Given the description of an element on the screen output the (x, y) to click on. 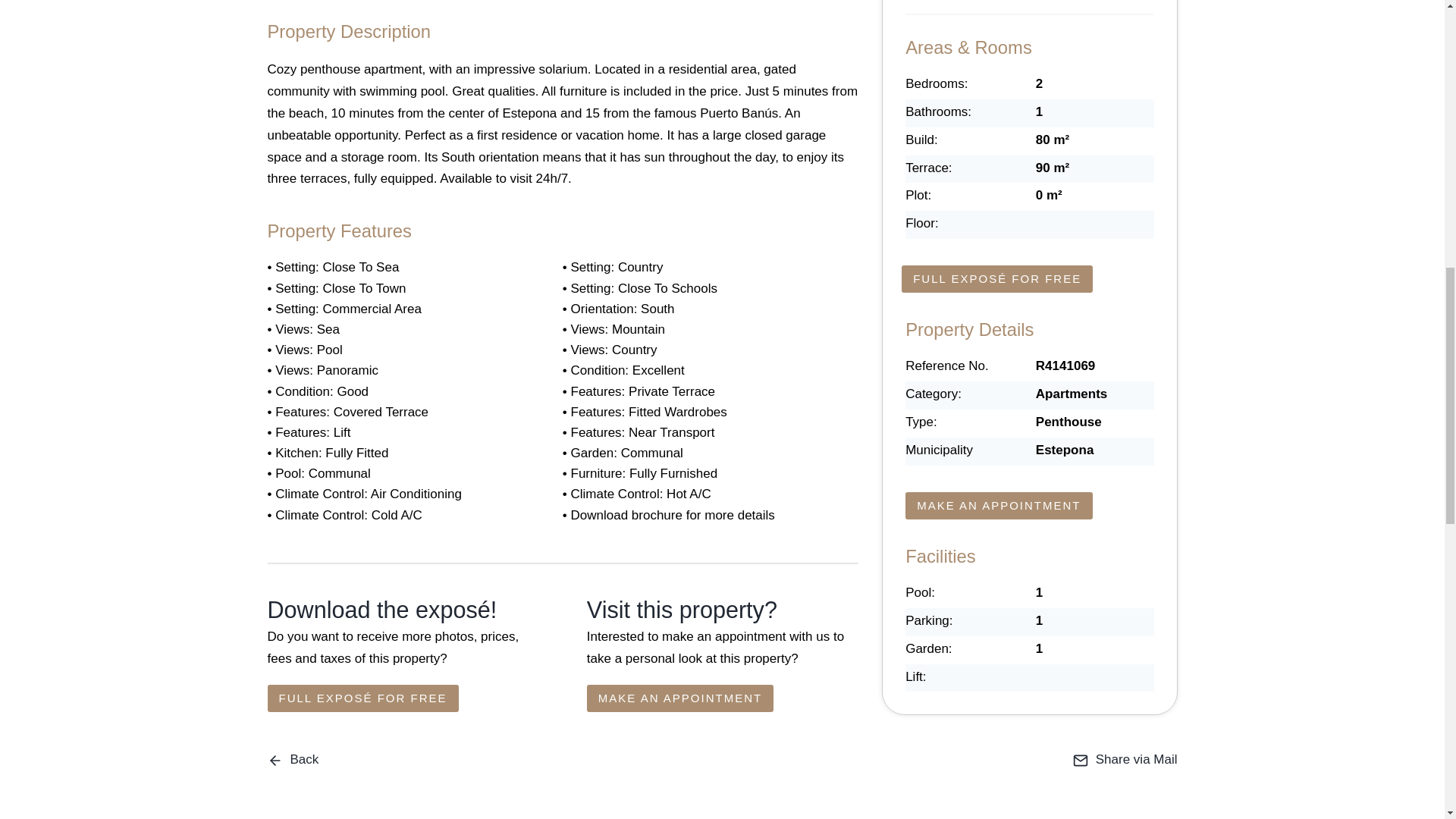
MAKE AN APPOINTMENT (679, 697)
